Given the description of an element on the screen output the (x, y) to click on. 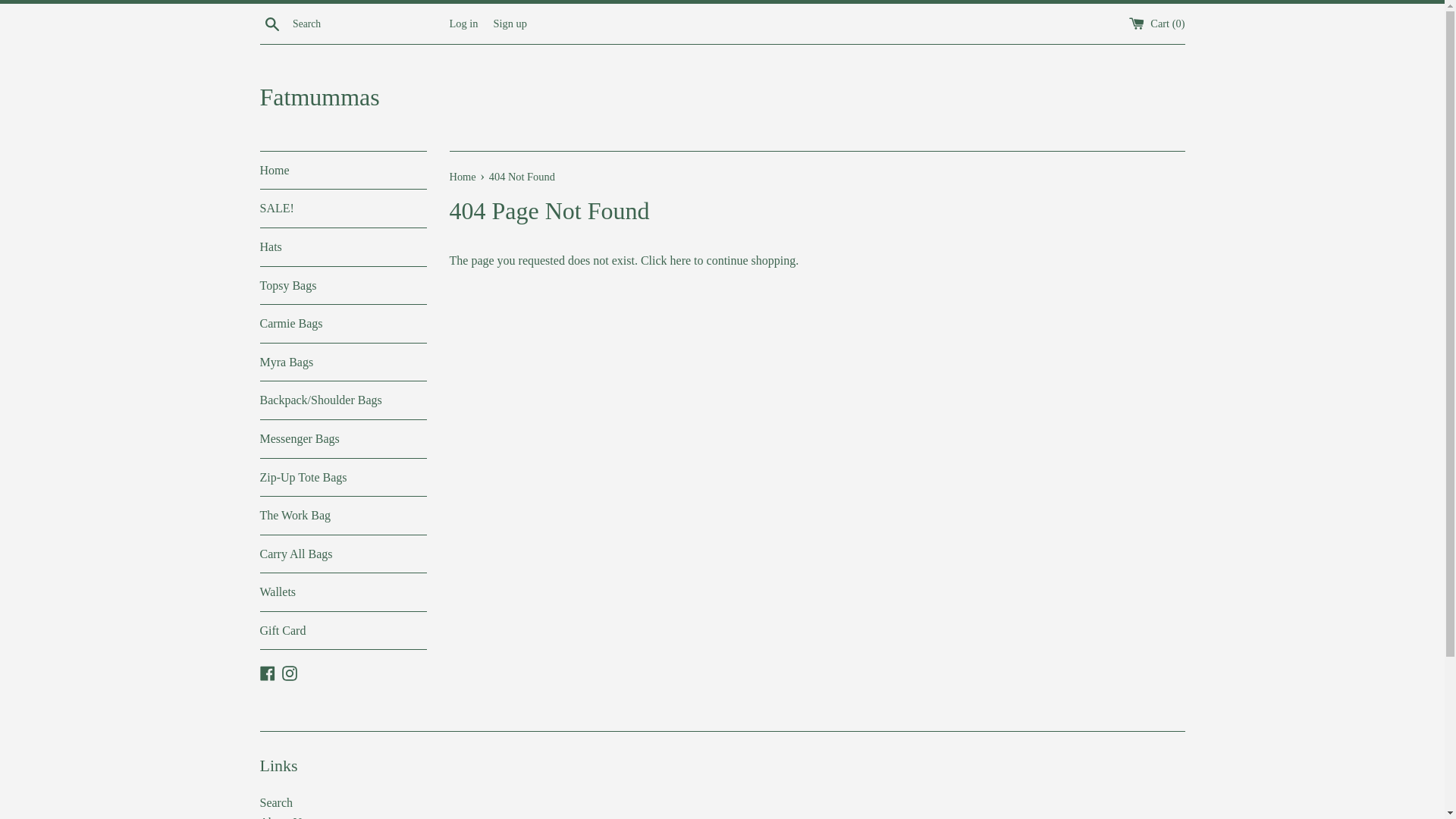
Backpack/Shoulder Bags Element type: text (342, 400)
Messenger Bags Element type: text (342, 439)
Home Element type: text (463, 176)
Carry All Bags Element type: text (342, 554)
here Element type: text (680, 260)
The Work Bag Element type: text (342, 515)
Fatmummas Element type: text (721, 97)
Myra Bags Element type: text (342, 362)
Zip-Up Tote Bags Element type: text (342, 476)
Search Element type: text (275, 802)
Hats Element type: text (342, 247)
Topsy Bags Element type: text (342, 285)
Wallets Element type: text (342, 592)
SALE! Element type: text (342, 208)
Sign up Element type: text (510, 22)
Carmie Bags Element type: text (342, 323)
Log in Element type: text (462, 22)
Facebook Element type: text (266, 671)
Instagram Element type: text (289, 671)
Gift Card Element type: text (342, 630)
Home Element type: text (342, 170)
Search Element type: text (271, 22)
Cart (0) Element type: text (1157, 22)
